Given the description of an element on the screen output the (x, y) to click on. 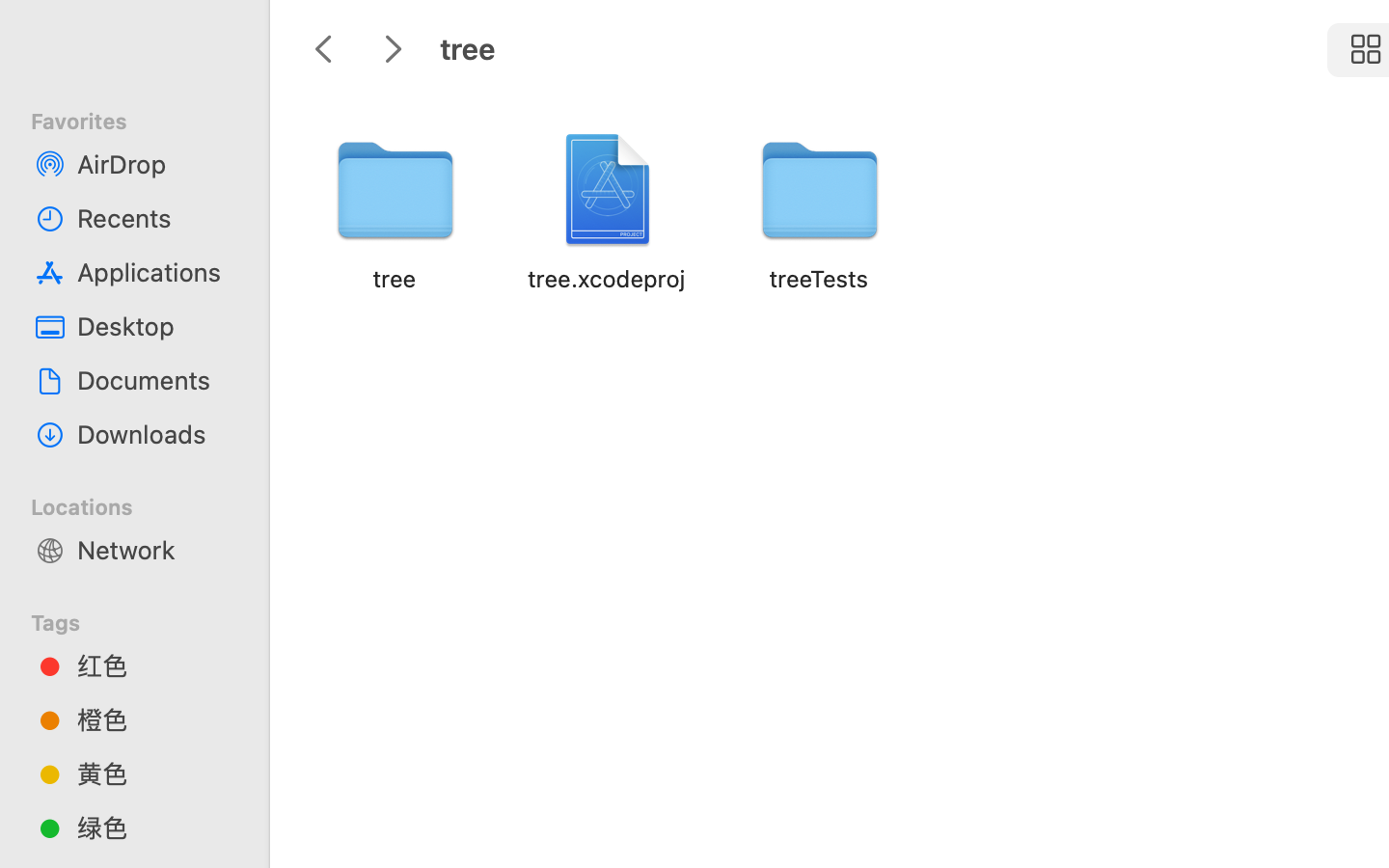
AirDrop Element type: AXStaticText (155, 163)
Documents Element type: AXStaticText (155, 379)
Tags Element type: AXStaticText (145, 619)
橙色 Element type: AXStaticText (155, 719)
Favorites Element type: AXStaticText (145, 118)
